Given the description of an element on the screen output the (x, y) to click on. 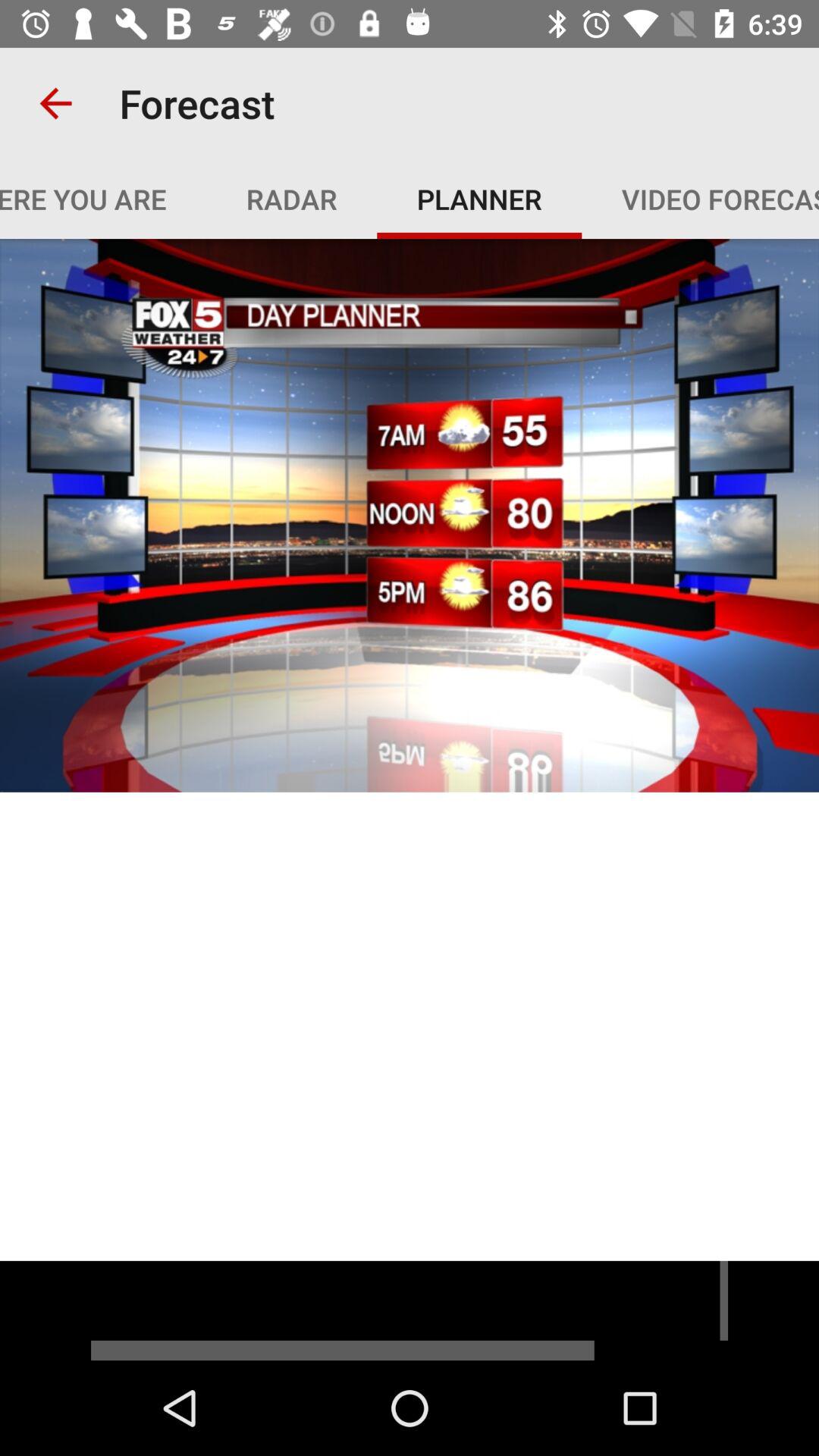
open advertisement (409, 1310)
